Given the description of an element on the screen output the (x, y) to click on. 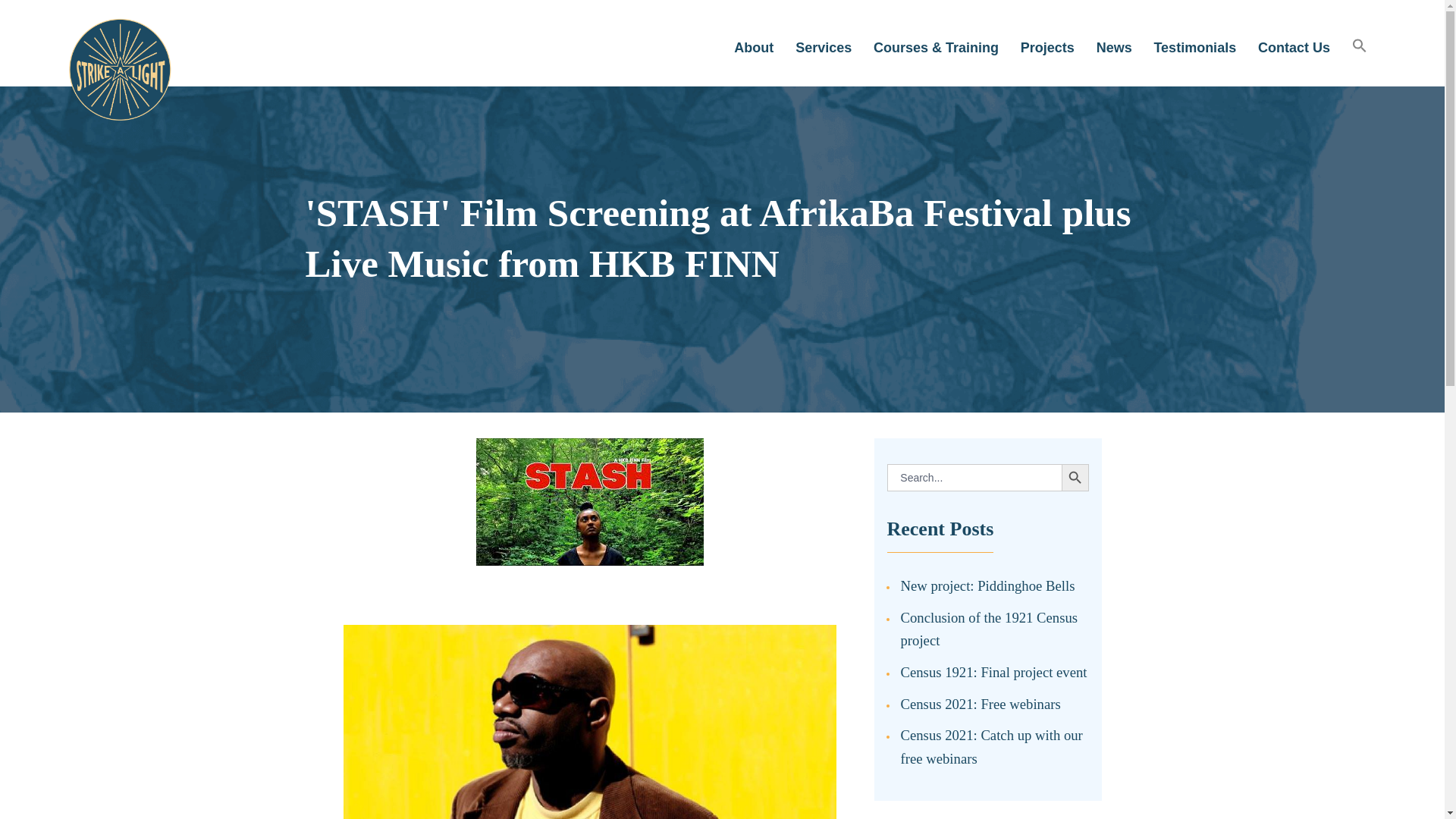
Services (823, 47)
Projects (1046, 47)
About (753, 47)
